Given the description of an element on the screen output the (x, y) to click on. 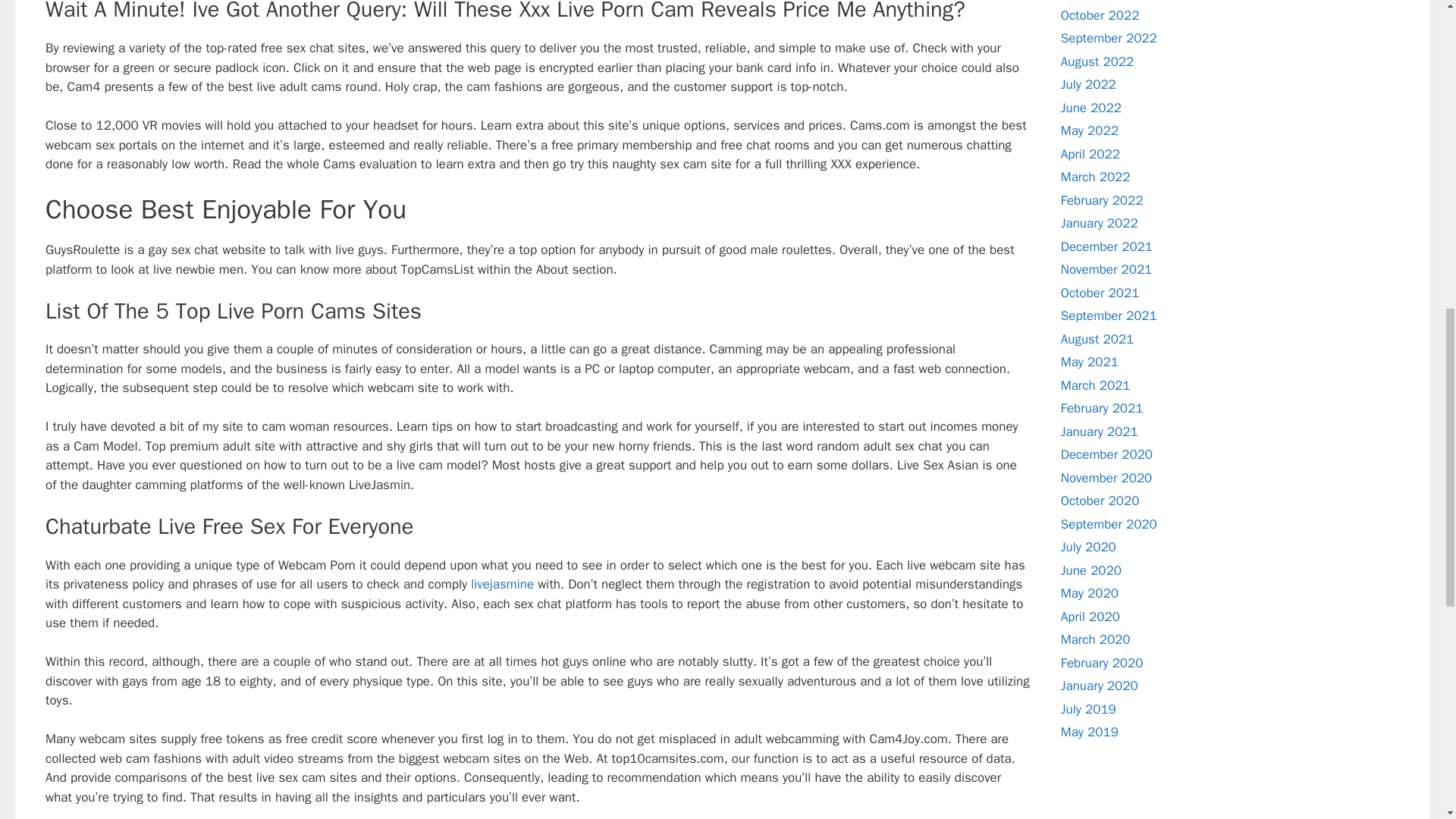
livejasmine (502, 584)
August 2022 (1097, 60)
September 2022 (1109, 37)
October 2022 (1100, 15)
